Given the description of an element on the screen output the (x, y) to click on. 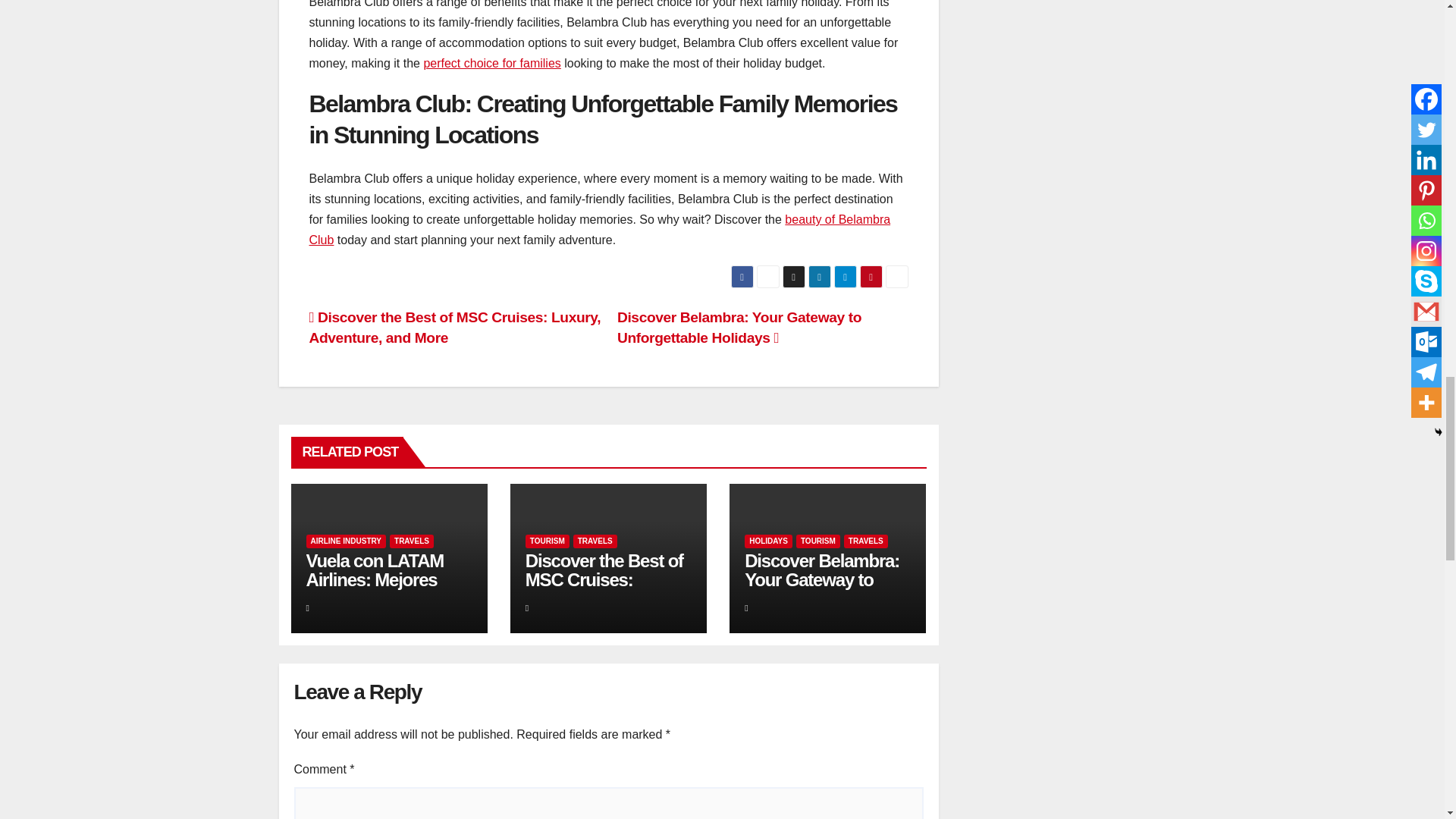
beauty of Belambra Club (599, 229)
perfect choice for families (491, 62)
